Given the description of an element on the screen output the (x, y) to click on. 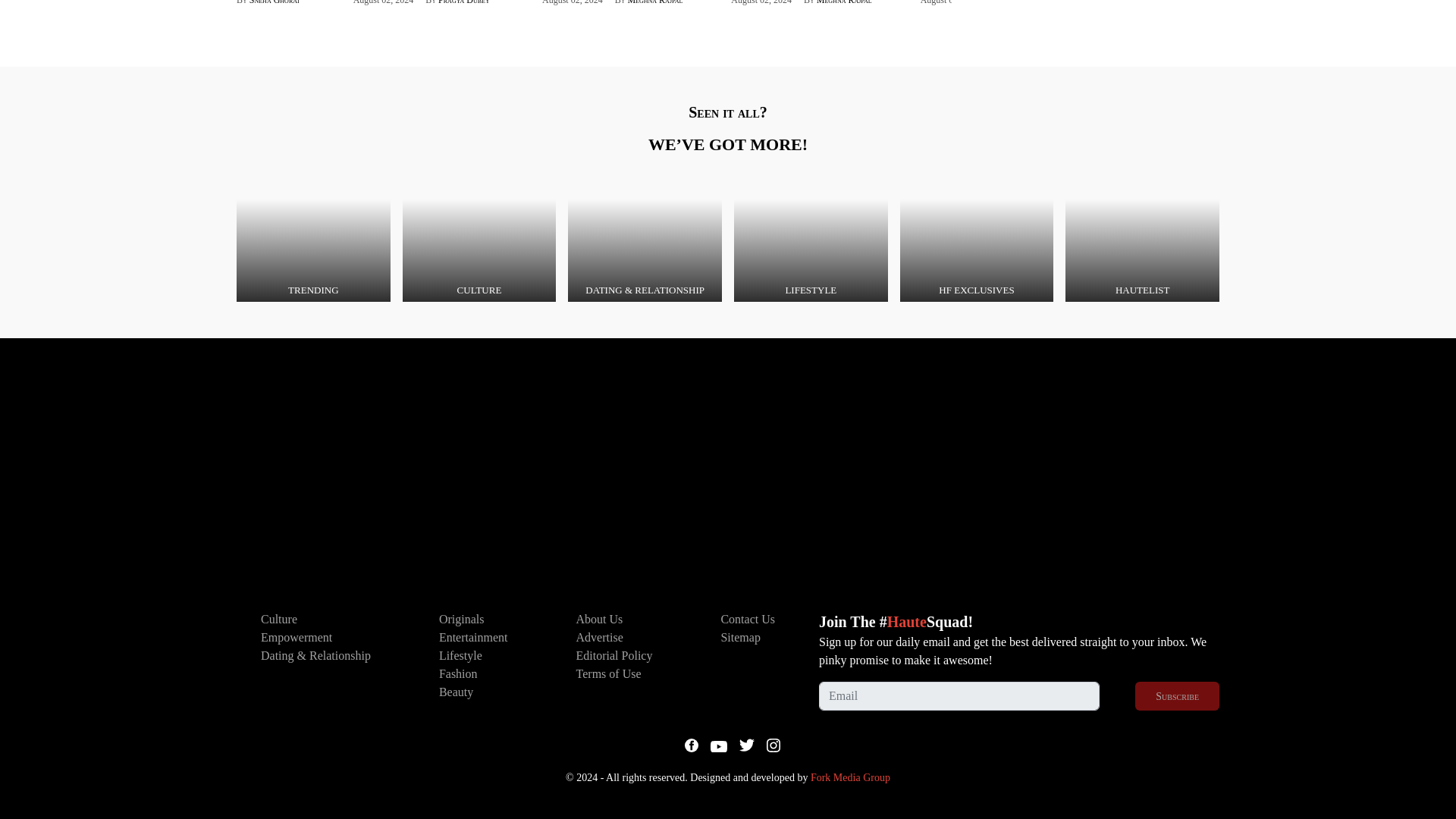
Subscribe (1177, 695)
